Given the description of an element on the screen output the (x, y) to click on. 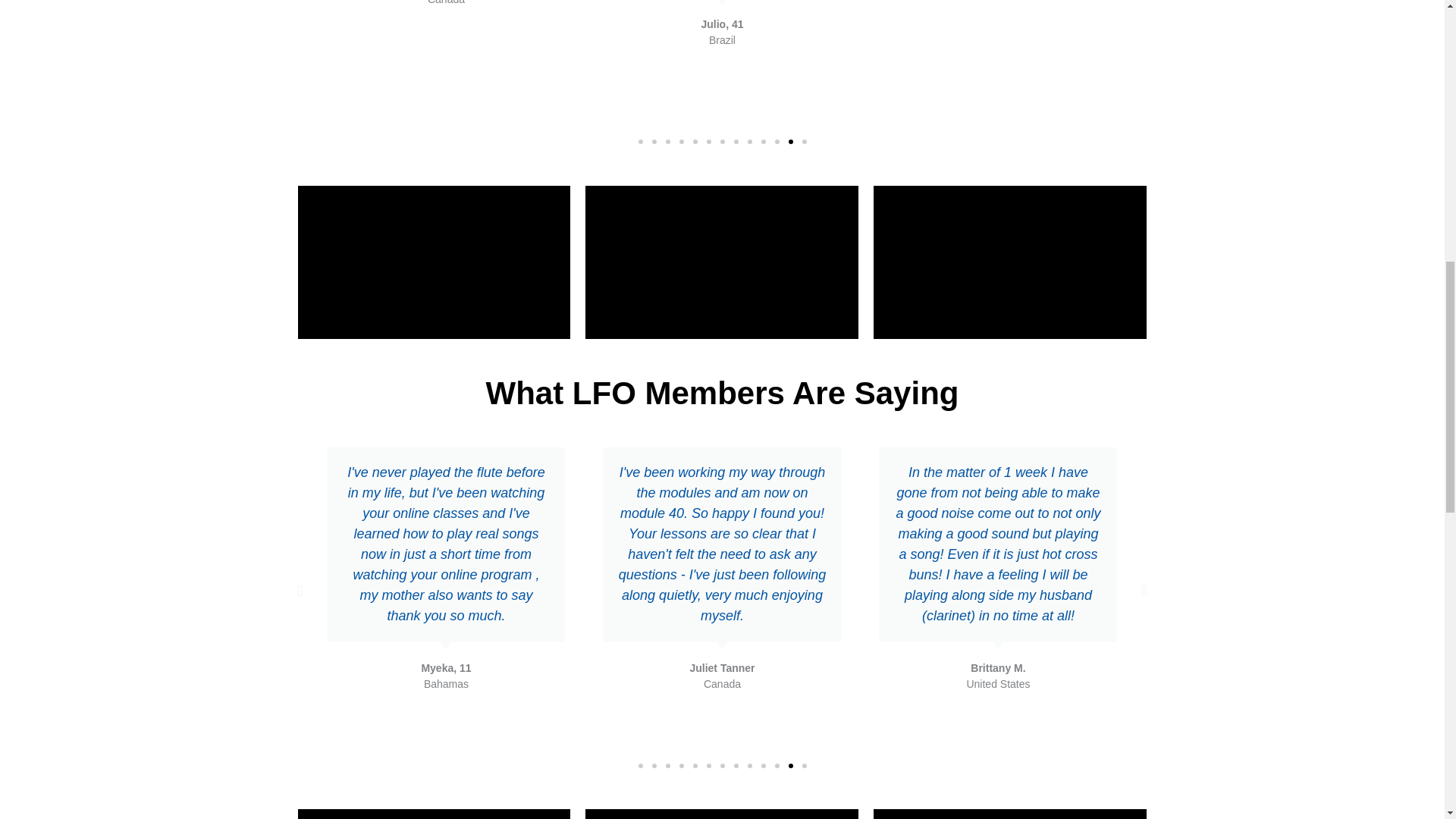
vimeo Video Player (1010, 262)
vimeo Video Player (433, 262)
vimeo Video Player (1010, 814)
vimeo Video Player (722, 814)
vimeo Video Player (722, 262)
vimeo Video Player (433, 814)
